Given the description of an element on the screen output the (x, y) to click on. 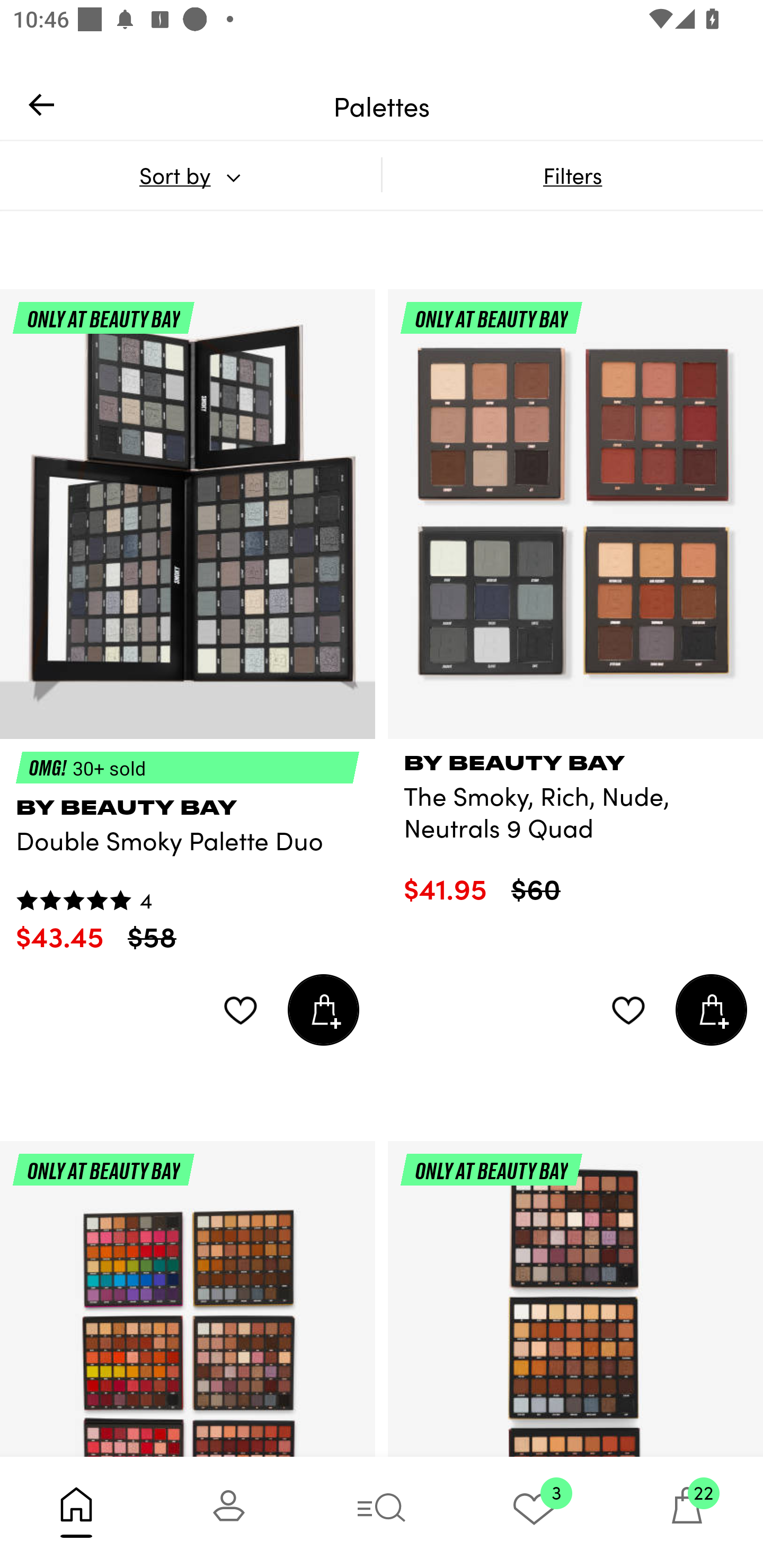
Sort by (190, 174)
Filters (572, 174)
3 (533, 1512)
22 (686, 1512)
